Given the description of an element on the screen output the (x, y) to click on. 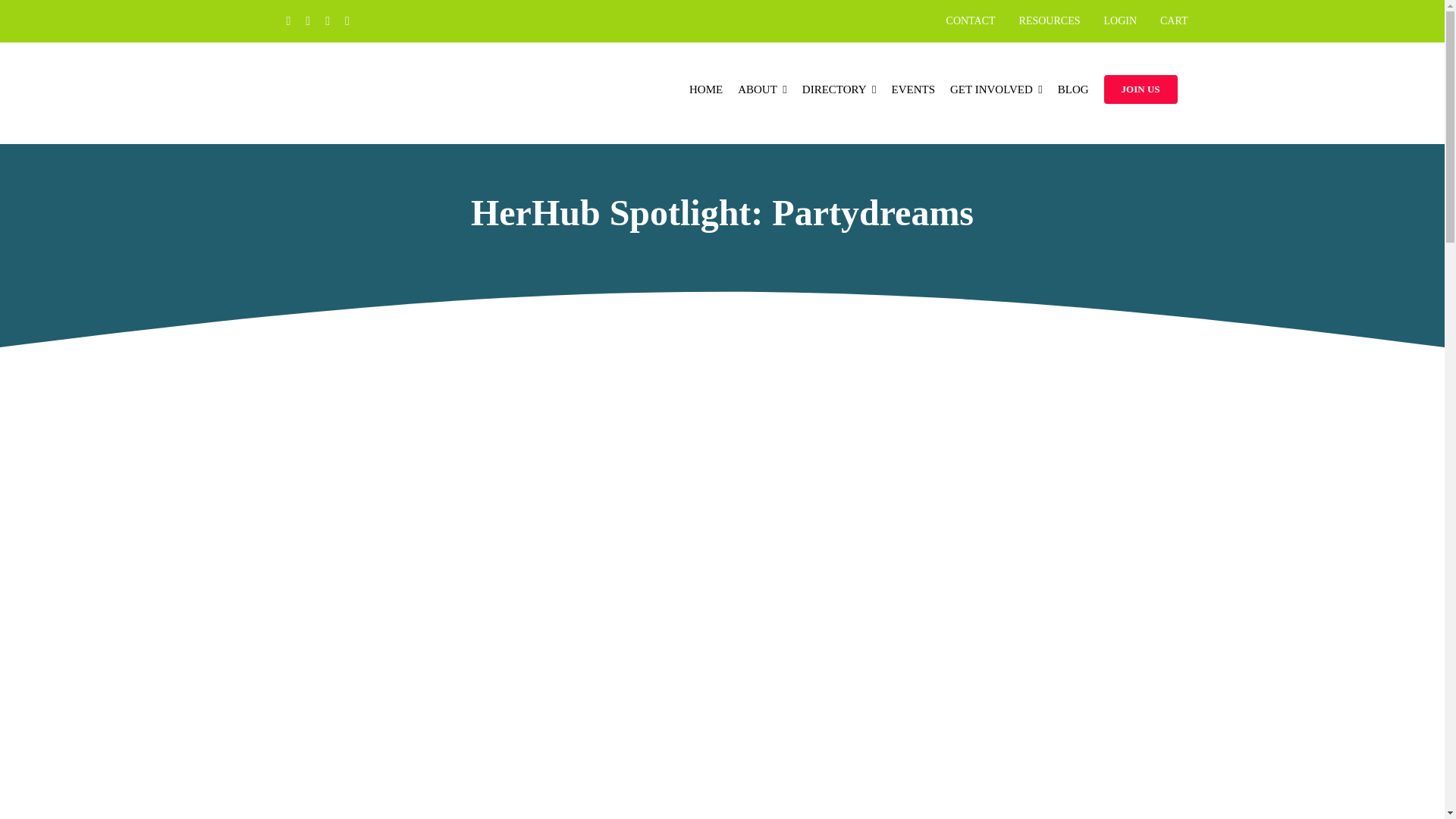
CONTACT (975, 20)
JOIN US (1140, 89)
LOGIN (1123, 20)
HOME (705, 89)
GET INVOLVED (996, 89)
CART (1178, 20)
RESOURCES (1054, 20)
ABOUT (762, 89)
EVENTS (913, 89)
DIRECTORY (839, 89)
BLOG (1073, 89)
